Given the description of an element on the screen output the (x, y) to click on. 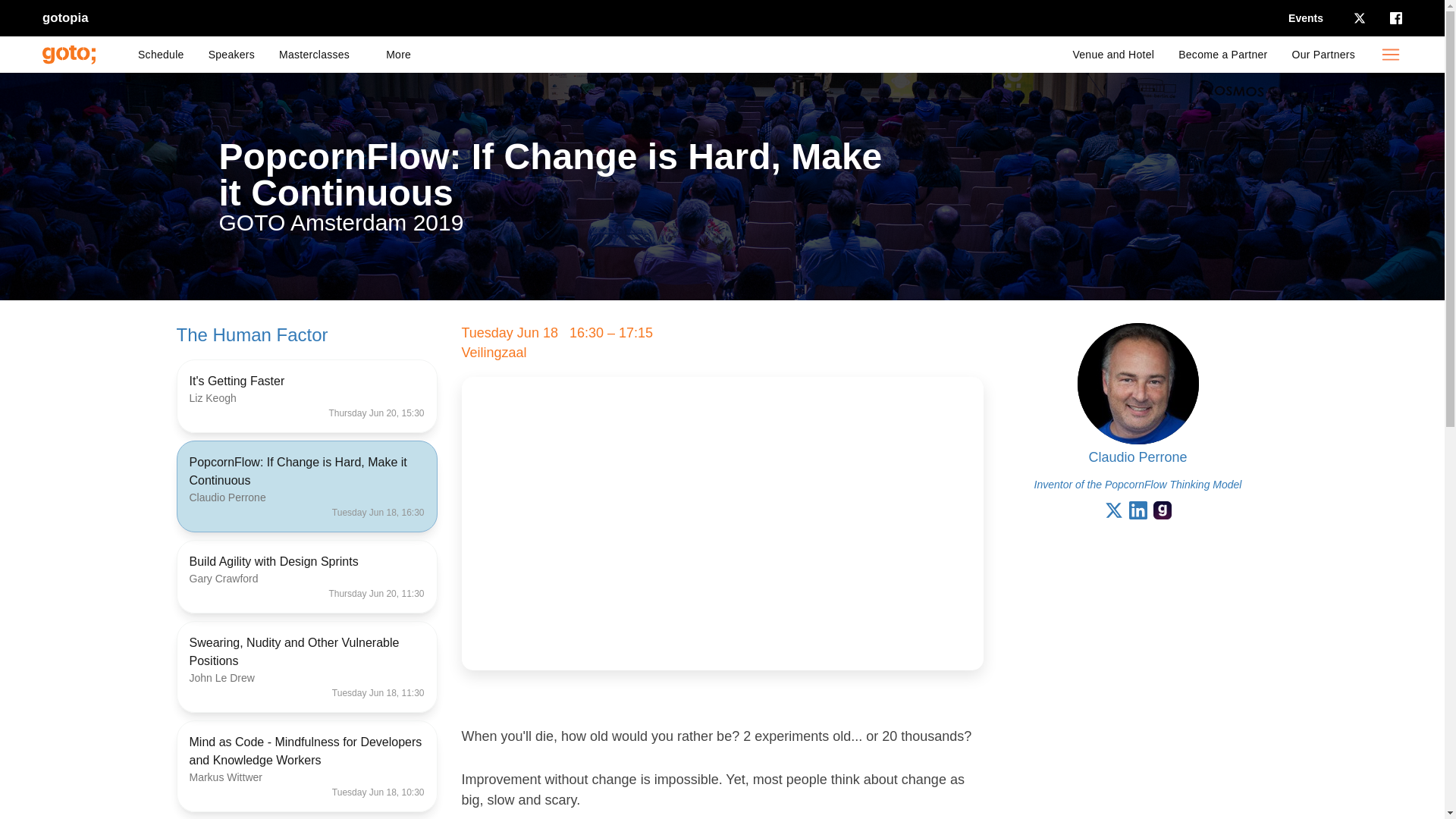
Venue and Hotel (1112, 54)
Become a Partner (1221, 54)
Our Partners (1323, 54)
Schedule (161, 54)
gotopia (65, 18)
Speakers (231, 54)
Masterclasses (314, 54)
Events (1305, 18)
More (397, 54)
